Given the description of an element on the screen output the (x, y) to click on. 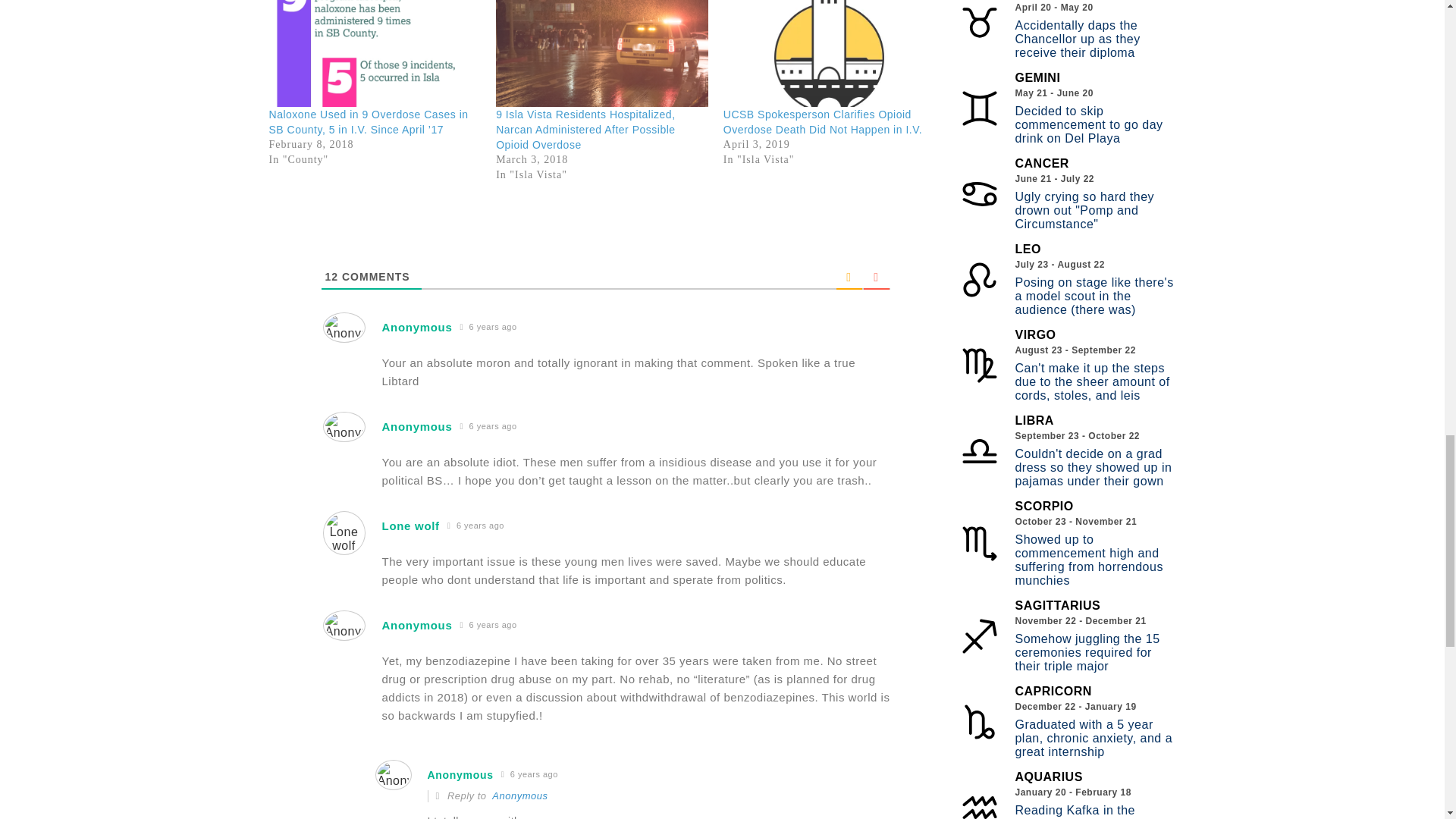
December 30, 2017 11:24 am (476, 525)
December 30, 2017 11:58 am (529, 774)
December 30, 2017 11:40 am (487, 625)
12 (331, 276)
December 30, 2017 6:22 am (487, 327)
December 30, 2017 11:22 am (487, 426)
